Given the description of an element on the screen output the (x, y) to click on. 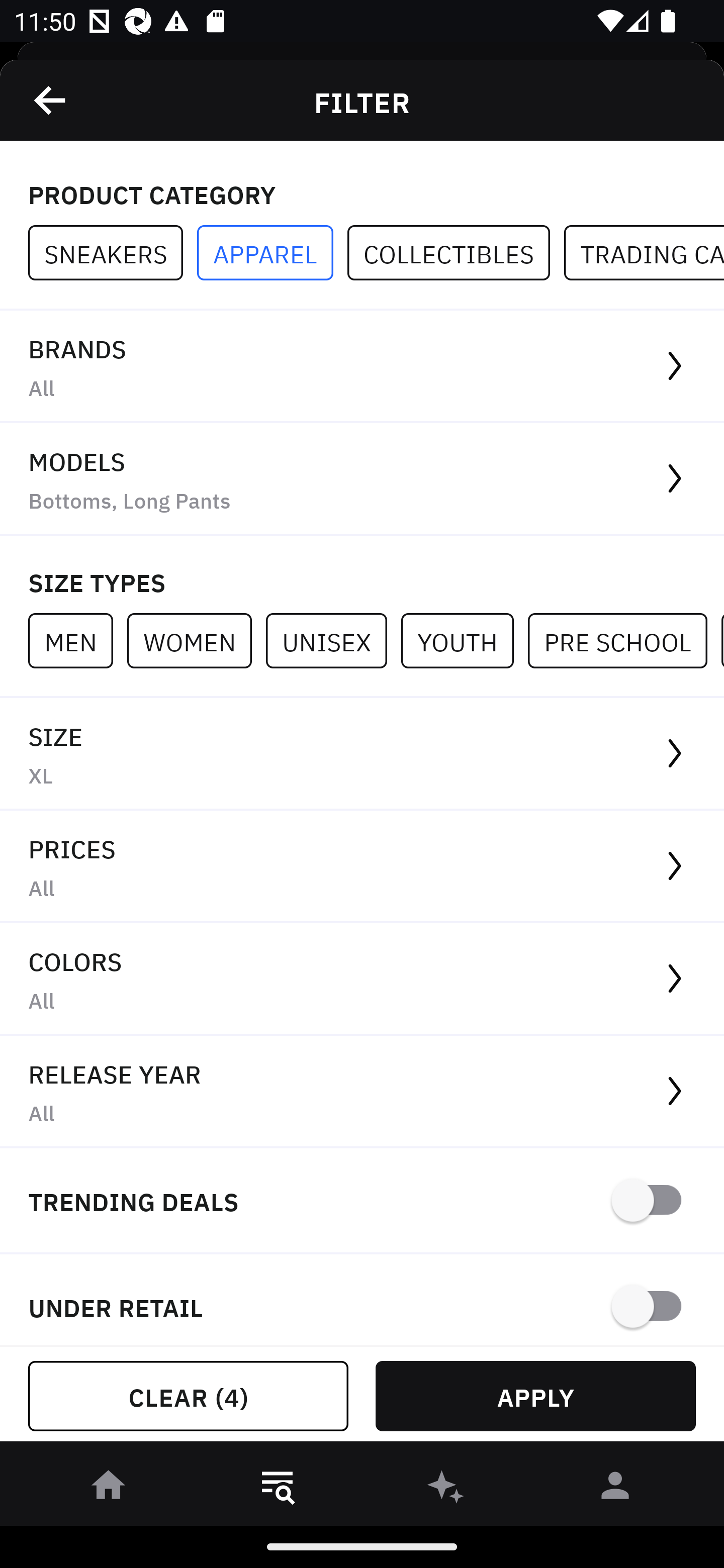
 (50, 100)
SNEAKERS (112, 252)
APPAREL (271, 252)
COLLECTIBLES (455, 252)
TRADING CARDS (643, 252)
BRANDS All (362, 366)
MODELS Bottoms, Long Pants (362, 479)
MEN (77, 640)
WOMEN (196, 640)
UNISEX (333, 640)
YOUTH (464, 640)
PRE SCHOOL (624, 640)
SIZE XL (362, 753)
PRICES All (362, 866)
COLORS All (362, 979)
RELEASE YEAR All (362, 1091)
TRENDING DEALS (362, 1200)
UNDER RETAIL (362, 1299)
CLEAR (4) (188, 1396)
APPLY (535, 1396)
󰋜 (108, 1488)
󱎸 (277, 1488)
󰫢 (446, 1488)
󰀄 (615, 1488)
